Given the description of an element on the screen output the (x, y) to click on. 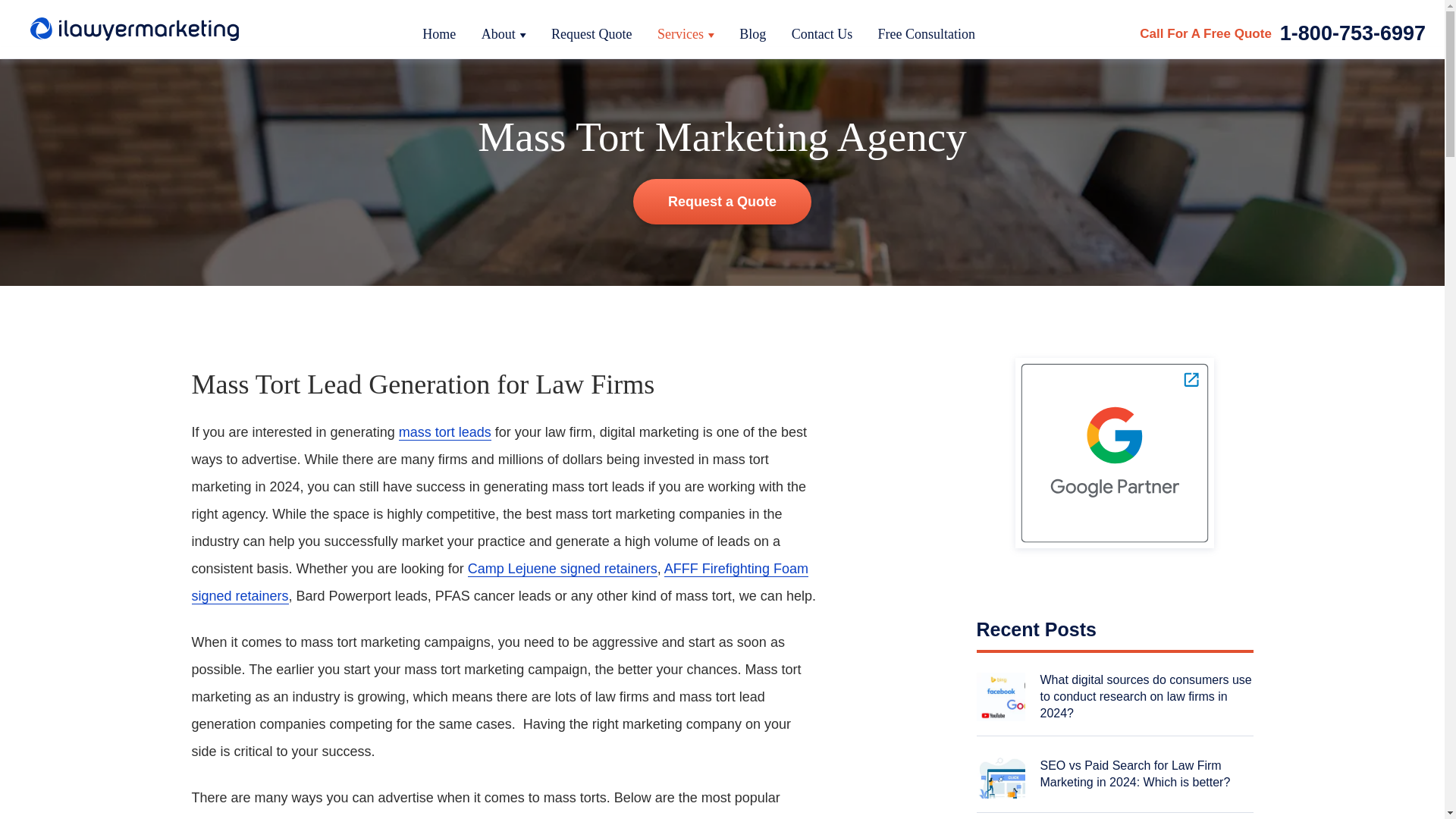
Home (438, 33)
About (503, 33)
Request Quote (591, 33)
Services (686, 33)
